Given the description of an element on the screen output the (x, y) to click on. 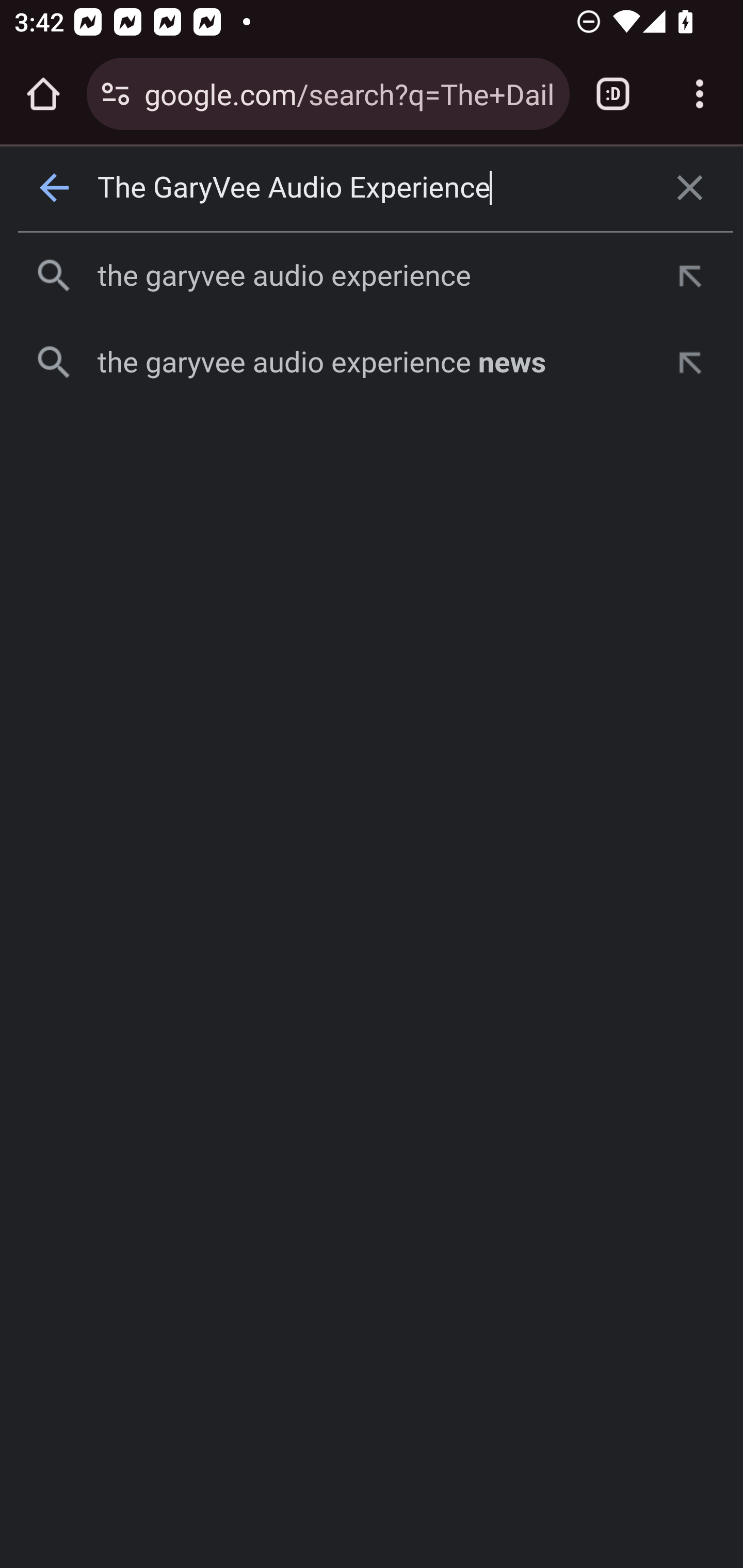
Open the home page (43, 93)
Connection is secure (115, 93)
Switch or close tabs (612, 93)
Customize and control Google Chrome (699, 93)
Back (54, 188)
Clear Search (690, 188)
The GaryVee Audio Experience (372, 188)
